Given the description of an element on the screen output the (x, y) to click on. 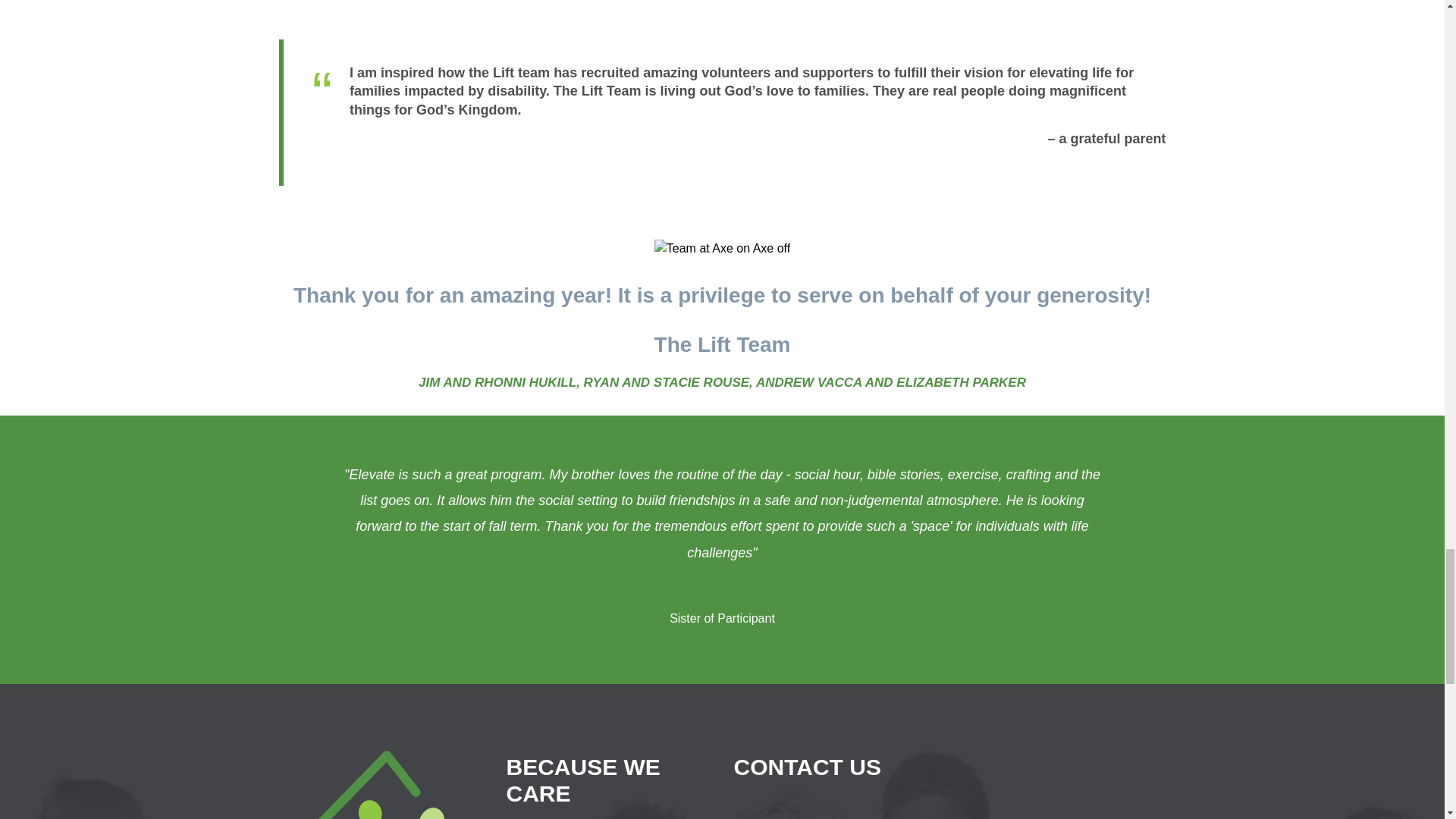
Team at Axe on Axe off (721, 248)
